Given the description of an element on the screen output the (x, y) to click on. 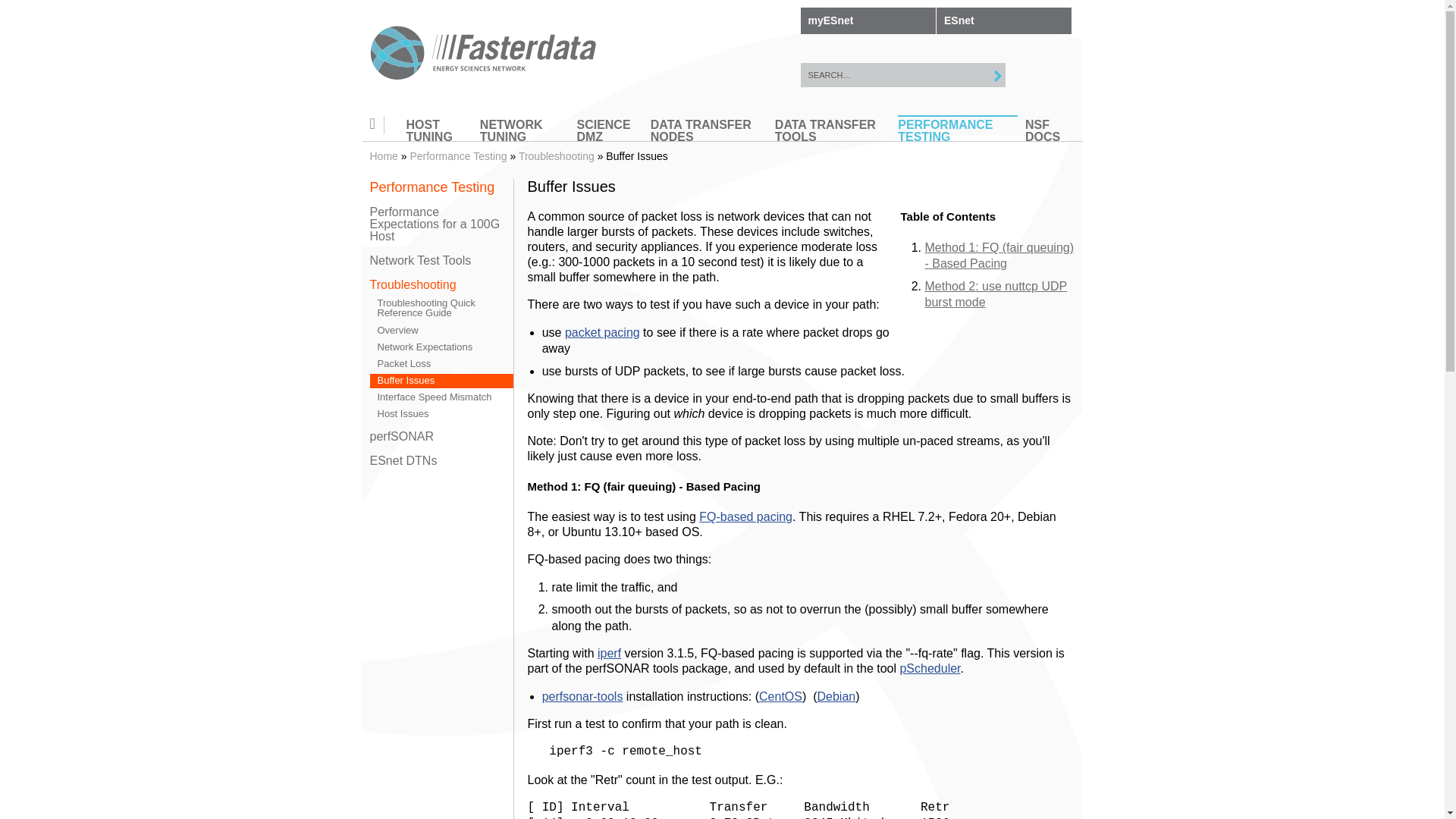
Home (483, 54)
myESnet (868, 20)
NETWORK TUNING (524, 134)
DATA TRANSFER NODES (708, 134)
DATA TRANSFER TOOLS (831, 134)
perfSONAR bundle options (582, 696)
SCIENCE DMZ (609, 134)
Debian bundle installation (836, 696)
CentOS bundle installation (780, 696)
HOST TUNING (438, 134)
